Given the description of an element on the screen output the (x, y) to click on. 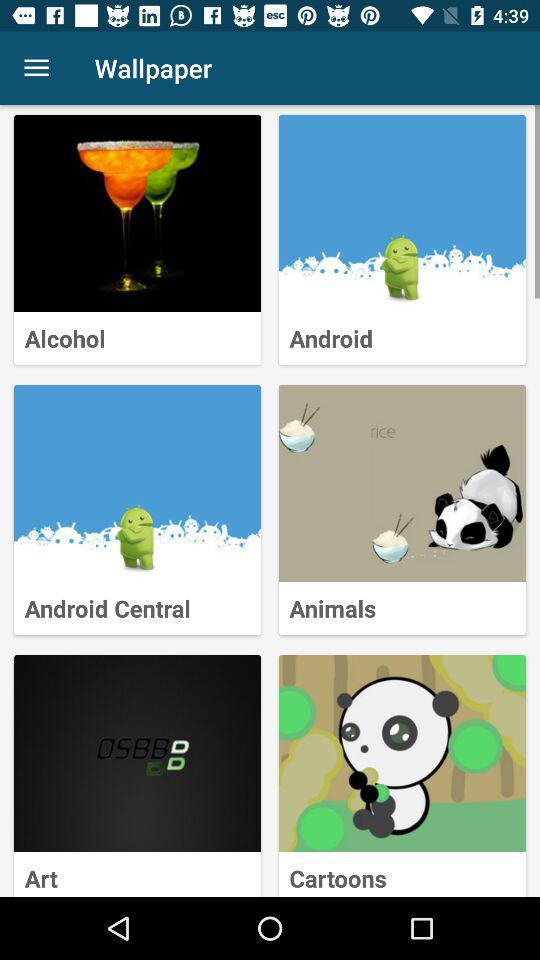
click to open category (137, 483)
